Given the description of an element on the screen output the (x, y) to click on. 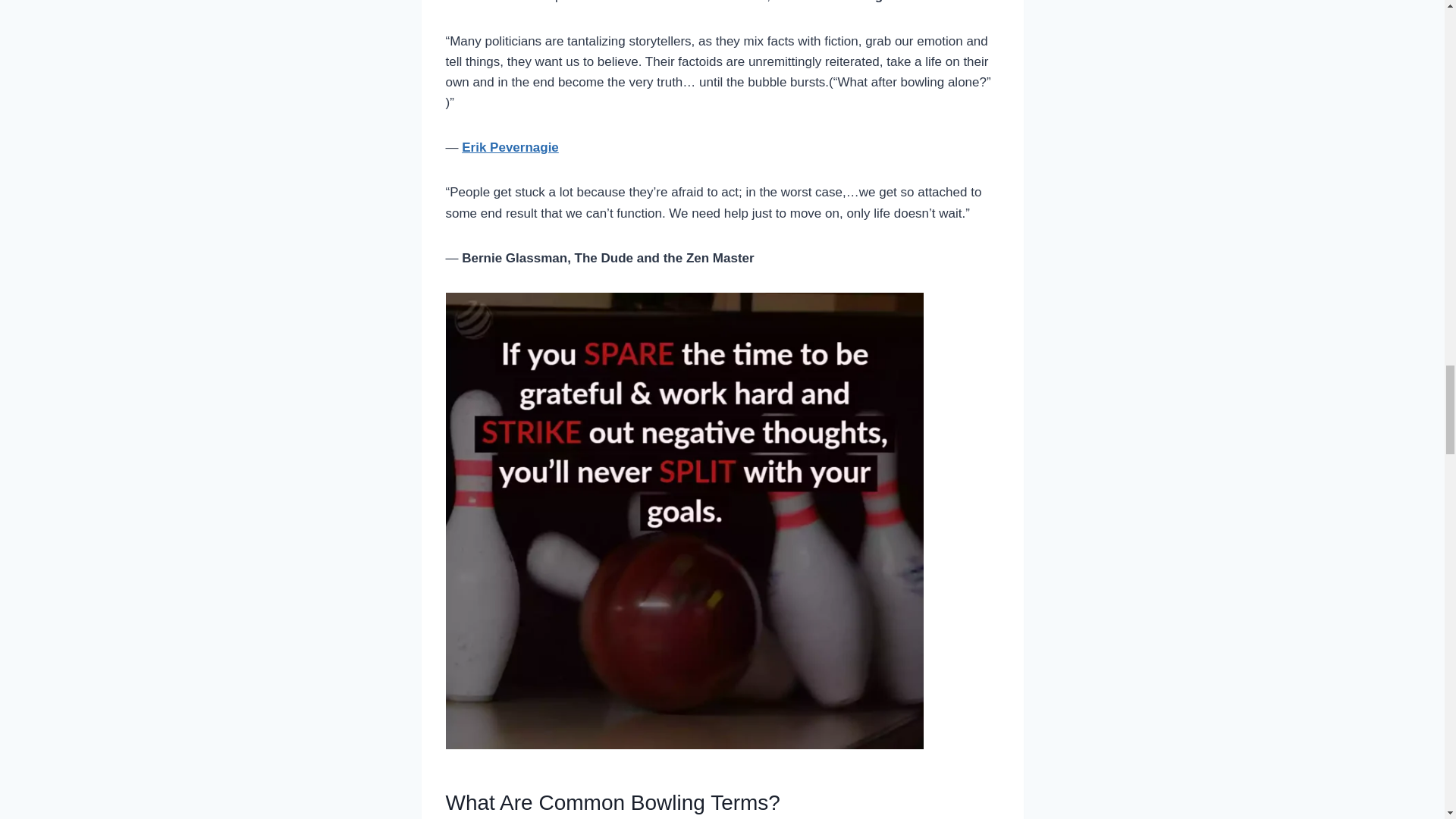
Erik Pevernagie (510, 147)
